Given the description of an element on the screen output the (x, y) to click on. 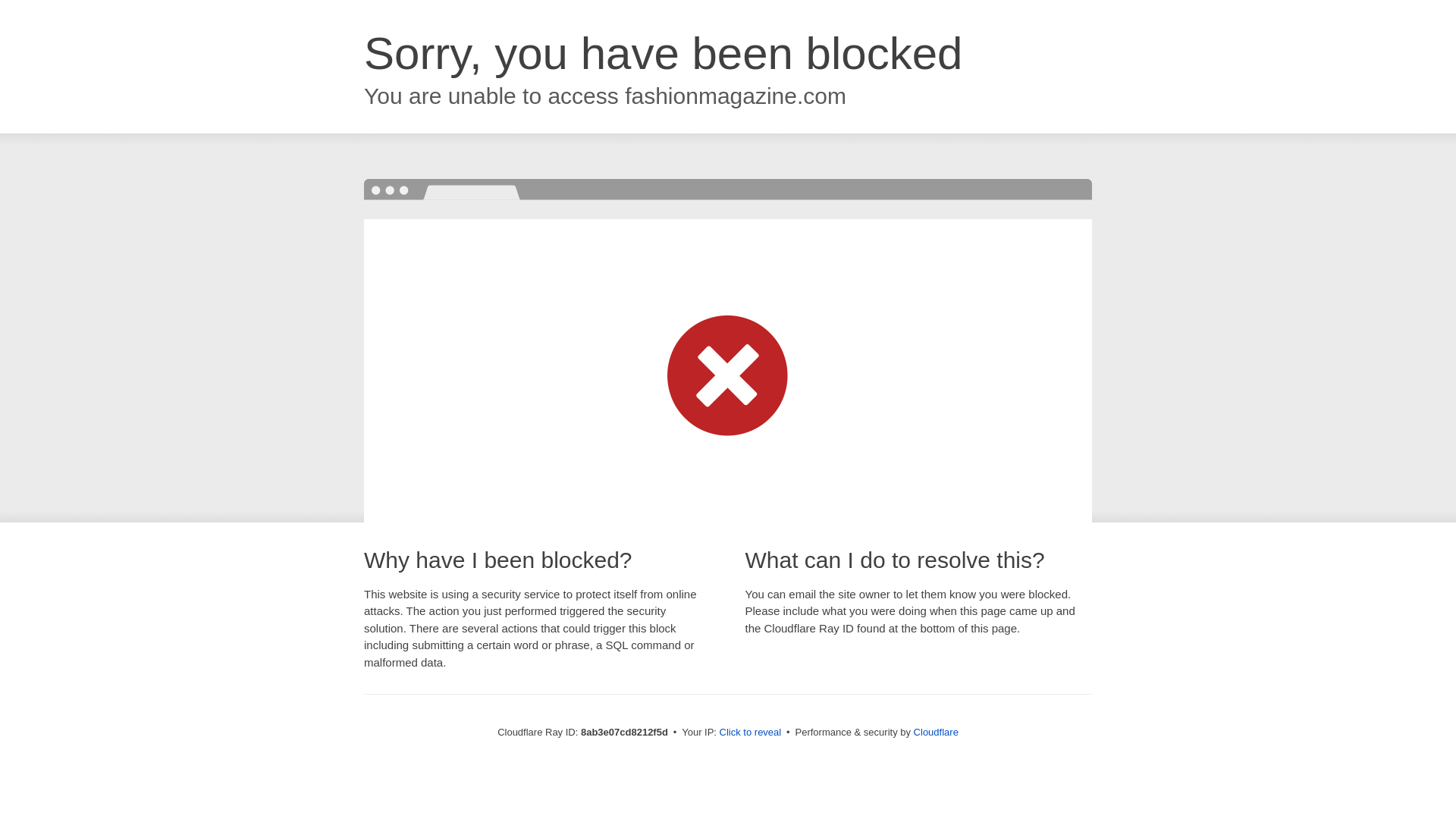
Cloudflare (936, 731)
Click to reveal (750, 732)
